Given the description of an element on the screen output the (x, y) to click on. 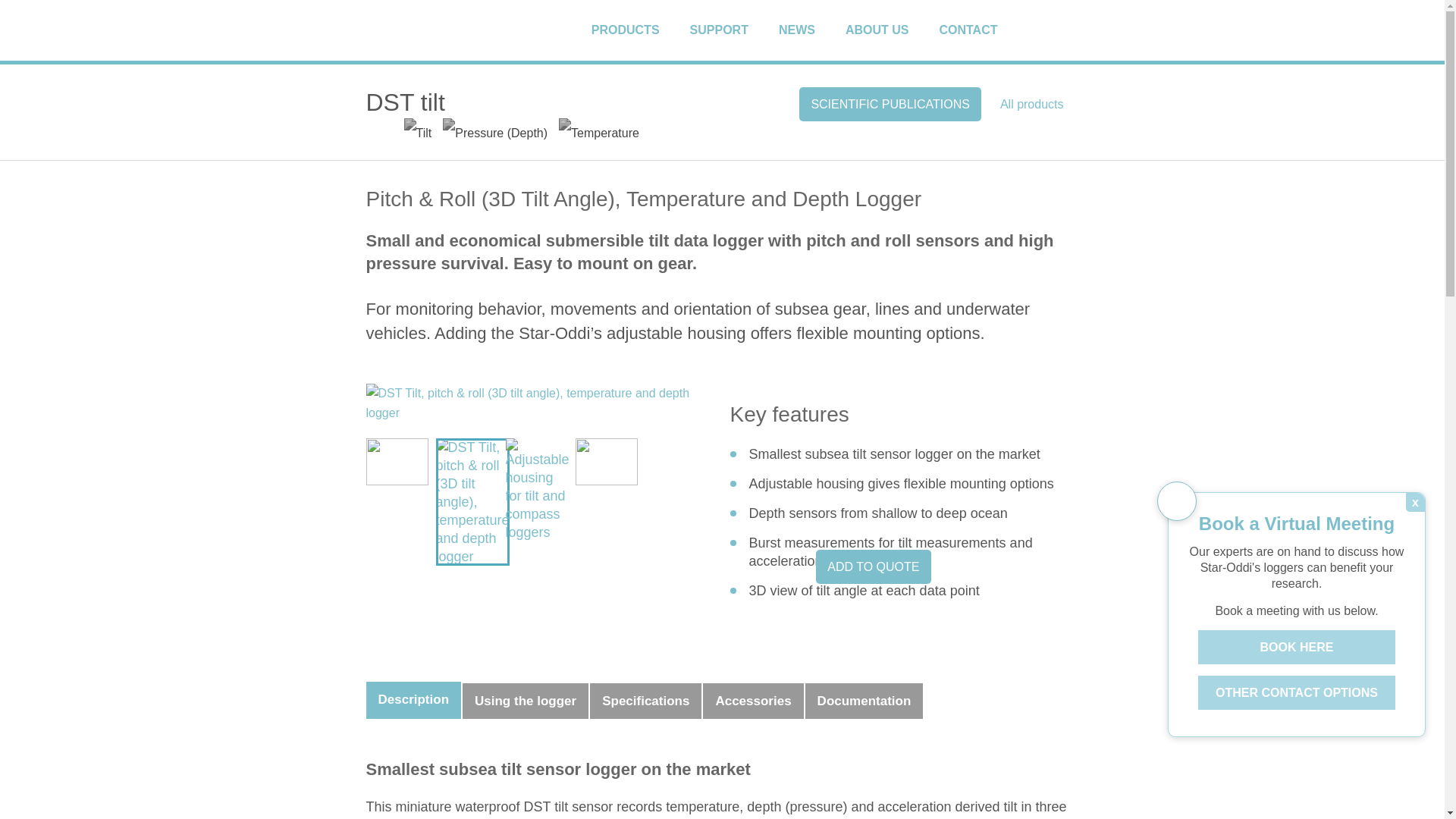
Search (1043, 30)
Quote basket (1070, 30)
Quote basket (1070, 30)
CONTACT (981, 29)
SCIENTIFIC PUBLICATIONS (890, 103)
ABOUT US (890, 29)
All products (1031, 103)
NEWS (809, 29)
SUPPORT (732, 29)
PRODUCTS (638, 29)
